Given the description of an element on the screen output the (x, y) to click on. 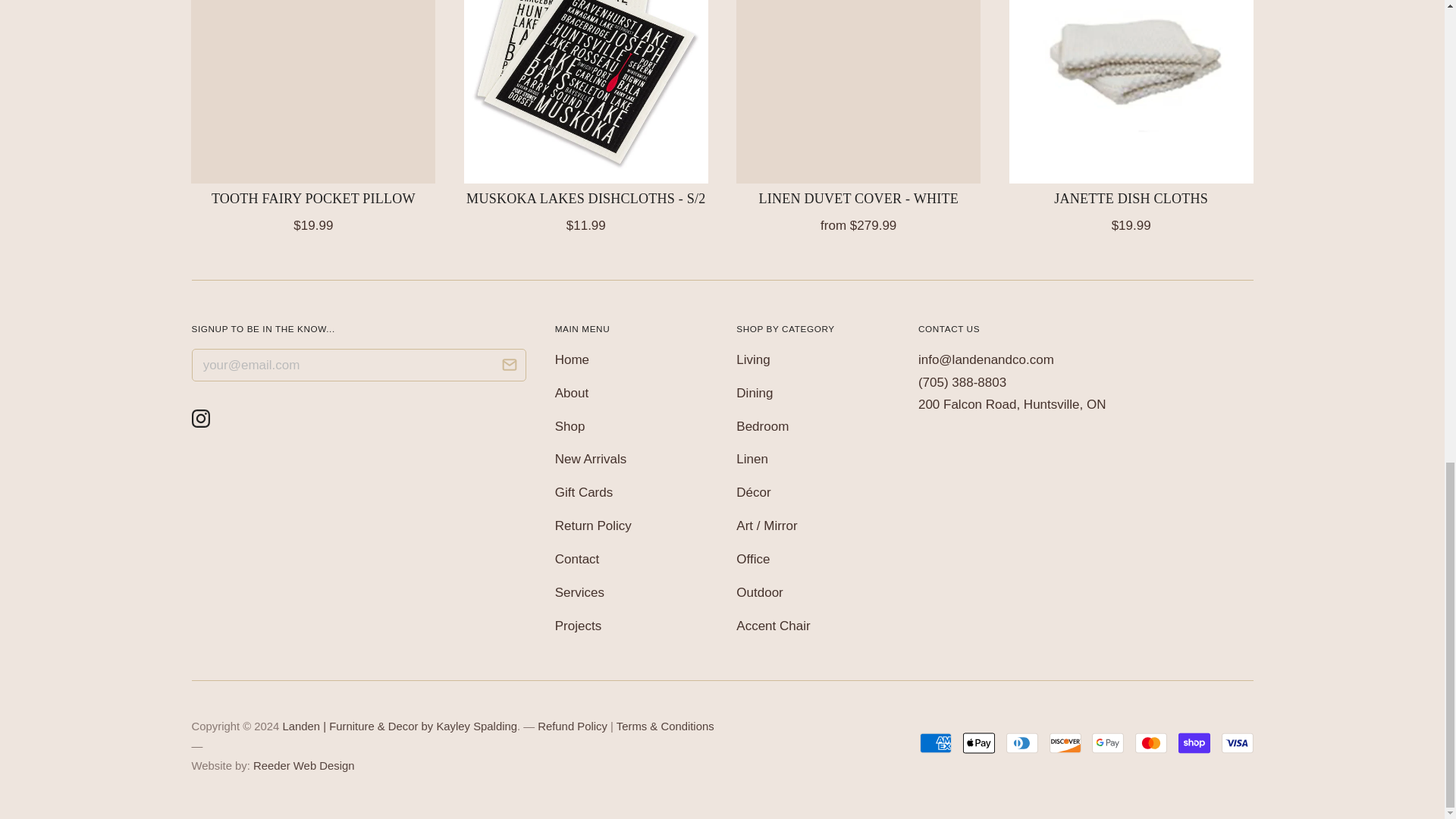
Visa (1236, 743)
Discover (1065, 743)
Diners Club (1022, 743)
Google Pay (1108, 743)
Mastercard (1151, 743)
Shop Pay (1193, 743)
American Express (936, 743)
Apple Pay (978, 743)
